Given the description of an element on the screen output the (x, y) to click on. 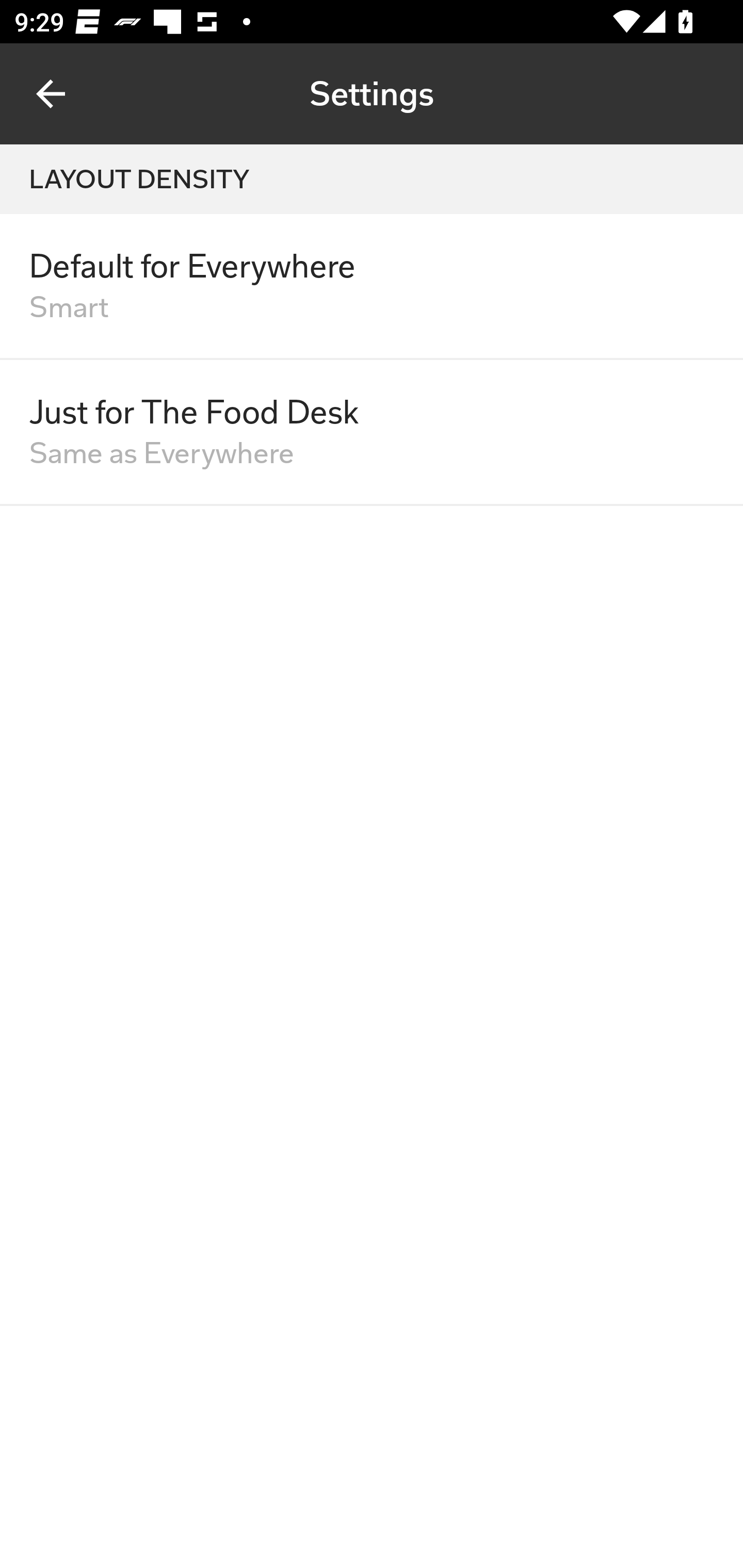
Back (50, 93)
LAYOUT DENSITY (371, 179)
Default for Everywhere Smart (371, 286)
Just for The Food Desk Same as Everywhere (371, 432)
